Given the description of an element on the screen output the (x, y) to click on. 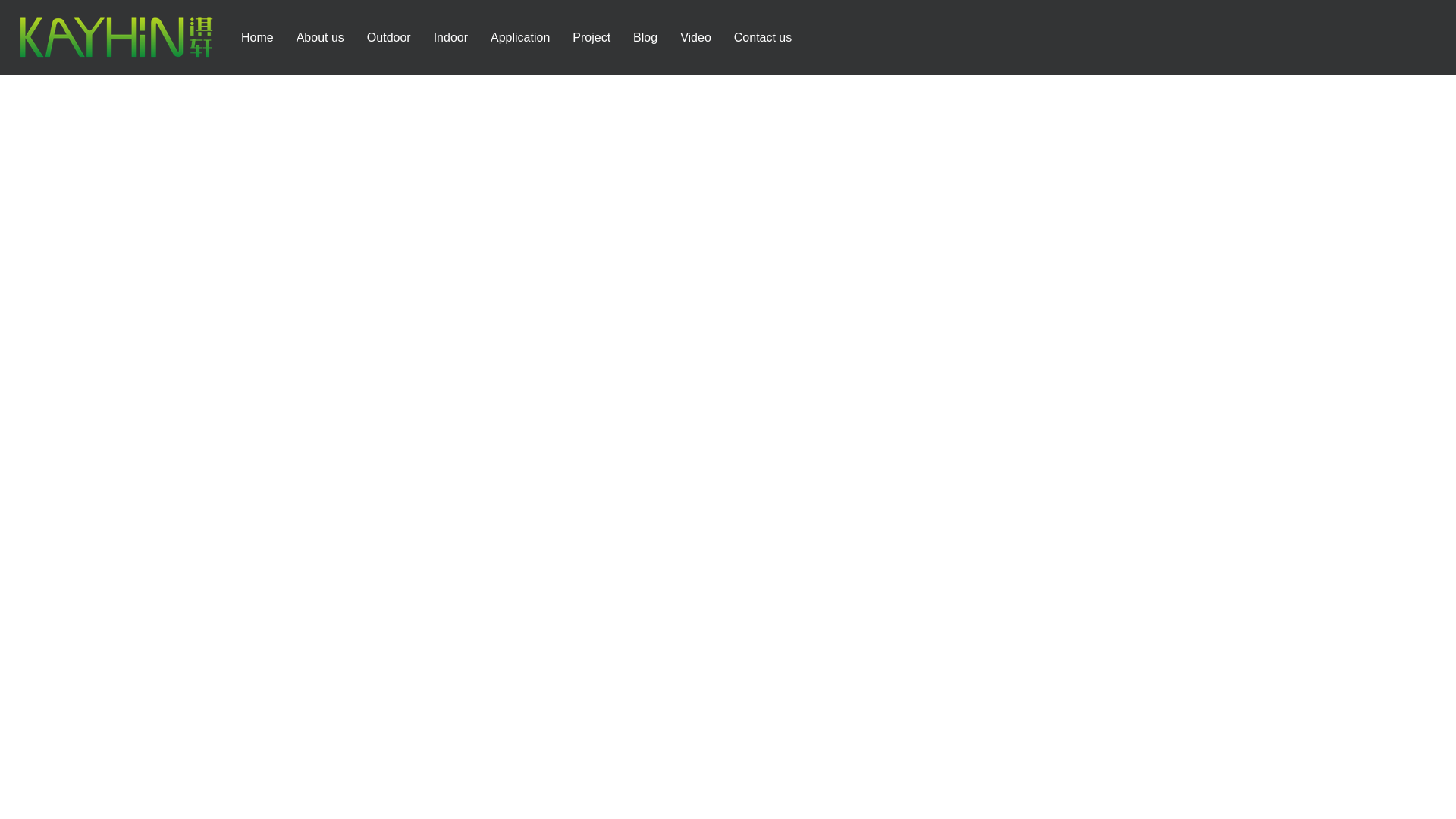
Contact us (762, 37)
Application (520, 37)
Home (256, 37)
Project (590, 37)
Outdoor (389, 37)
Video (695, 37)
Indoor (451, 37)
Blog (645, 37)
About us (320, 37)
